Given the description of an element on the screen output the (x, y) to click on. 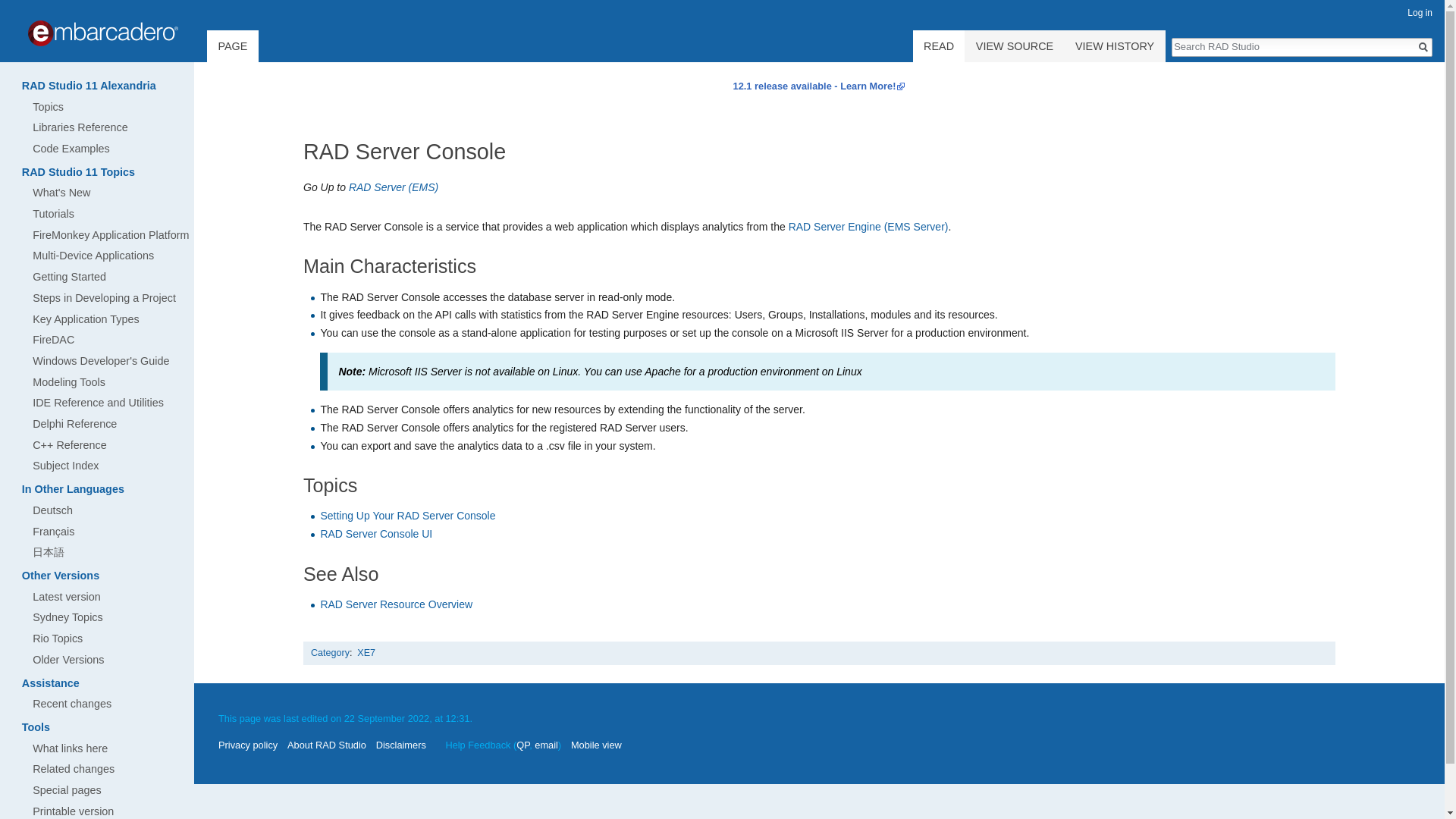
What's New (61, 192)
Getting Started (69, 276)
Special:Categories (330, 652)
Search (1423, 46)
Libraries Reference (80, 127)
VIEW HISTORY (1115, 46)
FireMonkey Application Platform (110, 234)
Code Examples (71, 148)
XE7 (365, 652)
READ (938, 51)
